Given the description of an element on the screen output the (x, y) to click on. 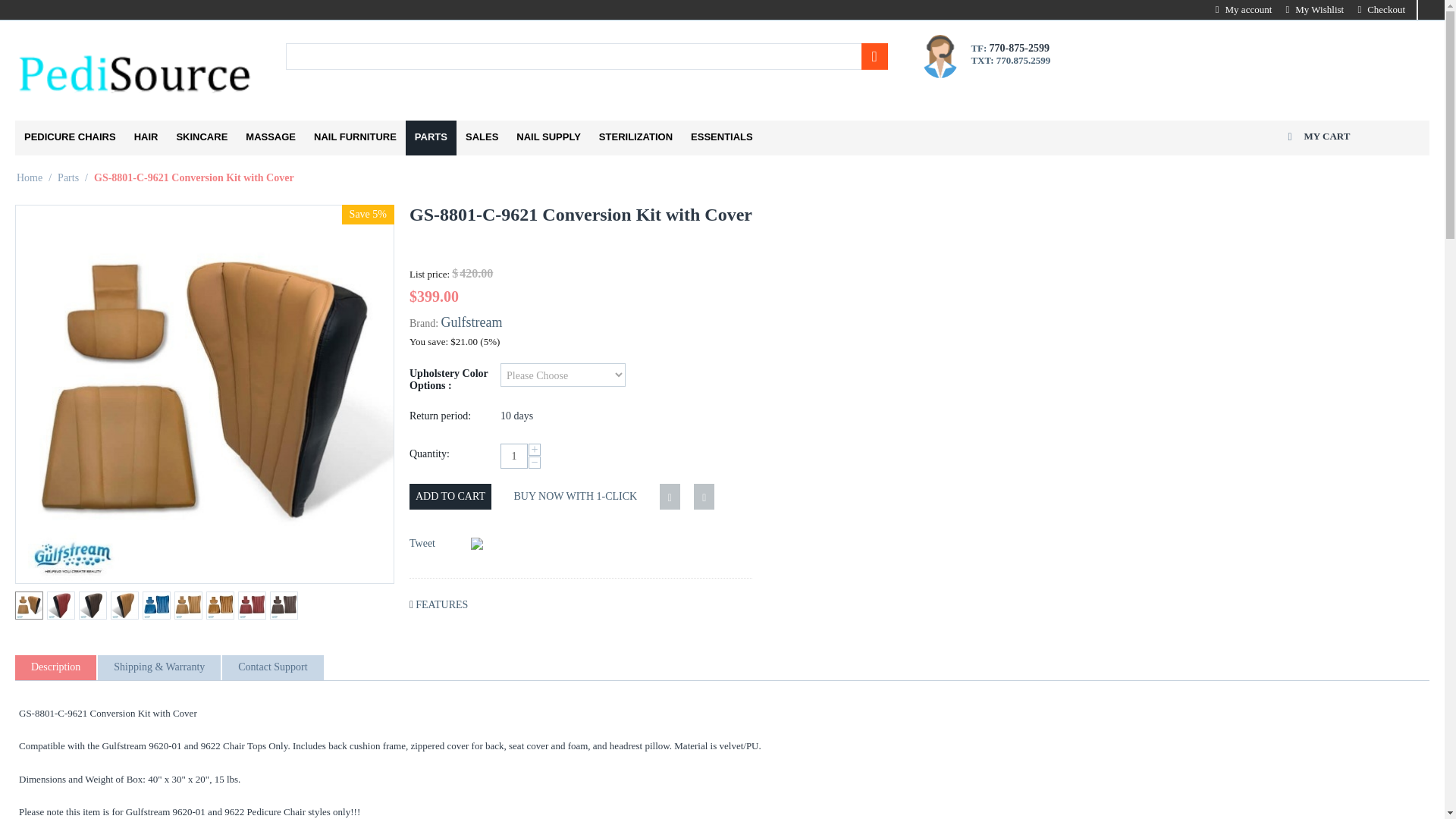
PEDICURE CHAIRS (69, 137)
SKINCARE (201, 137)
My account (1243, 9)
Search products (586, 56)
HAIR (146, 137)
TF:  (979, 48)
1 (513, 455)
logo-pedisource (135, 71)
Search (874, 56)
